Given the description of an element on the screen output the (x, y) to click on. 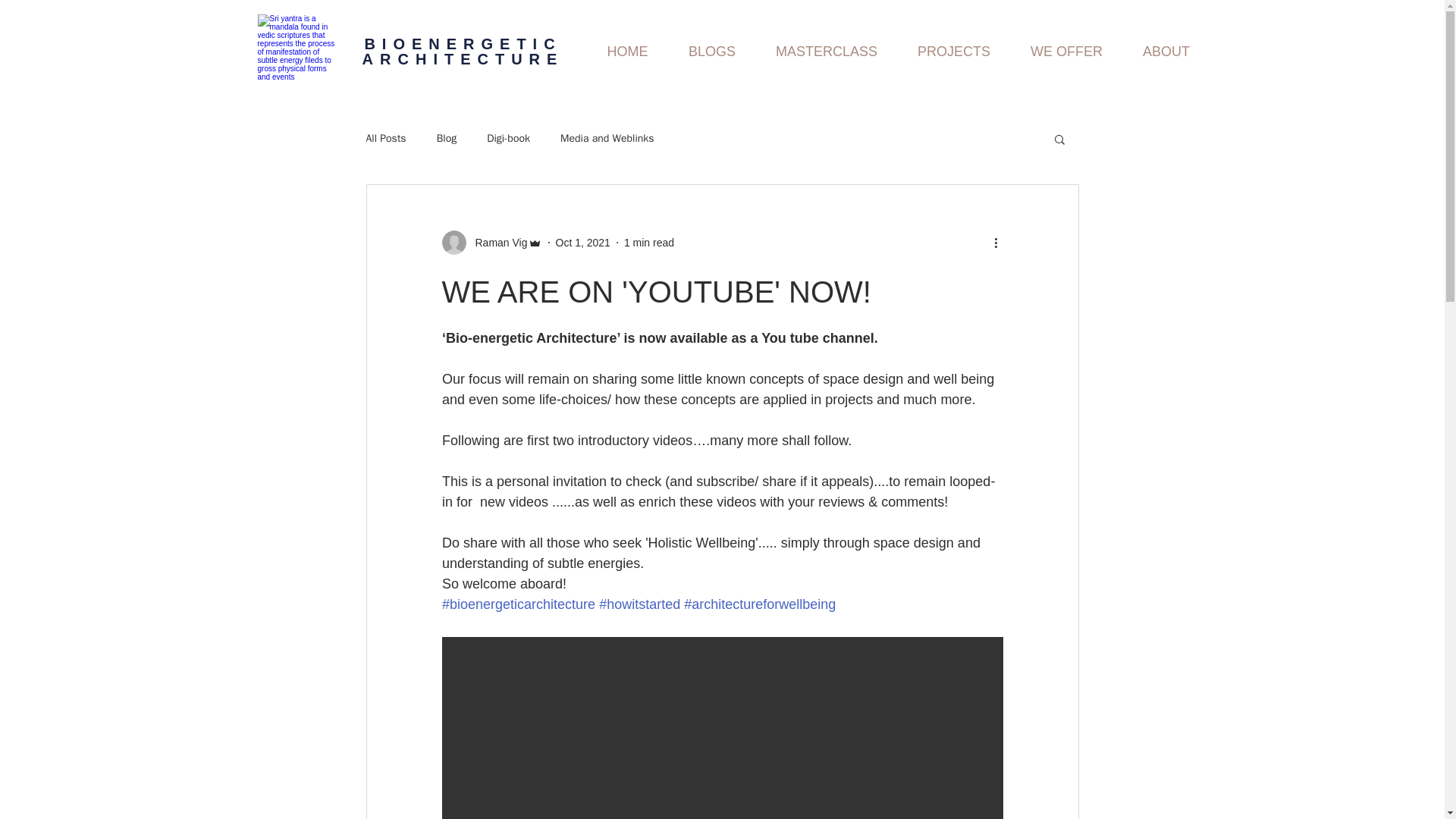
BLOGS (711, 51)
WE OFFER (1066, 51)
Blog (446, 138)
Raman Vig (491, 242)
MASTERCLASS (825, 51)
1 min read (649, 242)
PROJECTS (954, 51)
Media and Weblinks (606, 138)
Raman Vig (496, 242)
ABOUT (1165, 51)
All Posts (385, 138)
Digi-book (507, 138)
HOME (627, 51)
BIOENERGETIC (462, 44)
Oct 1, 2021 (583, 242)
